Given the description of an element on the screen output the (x, y) to click on. 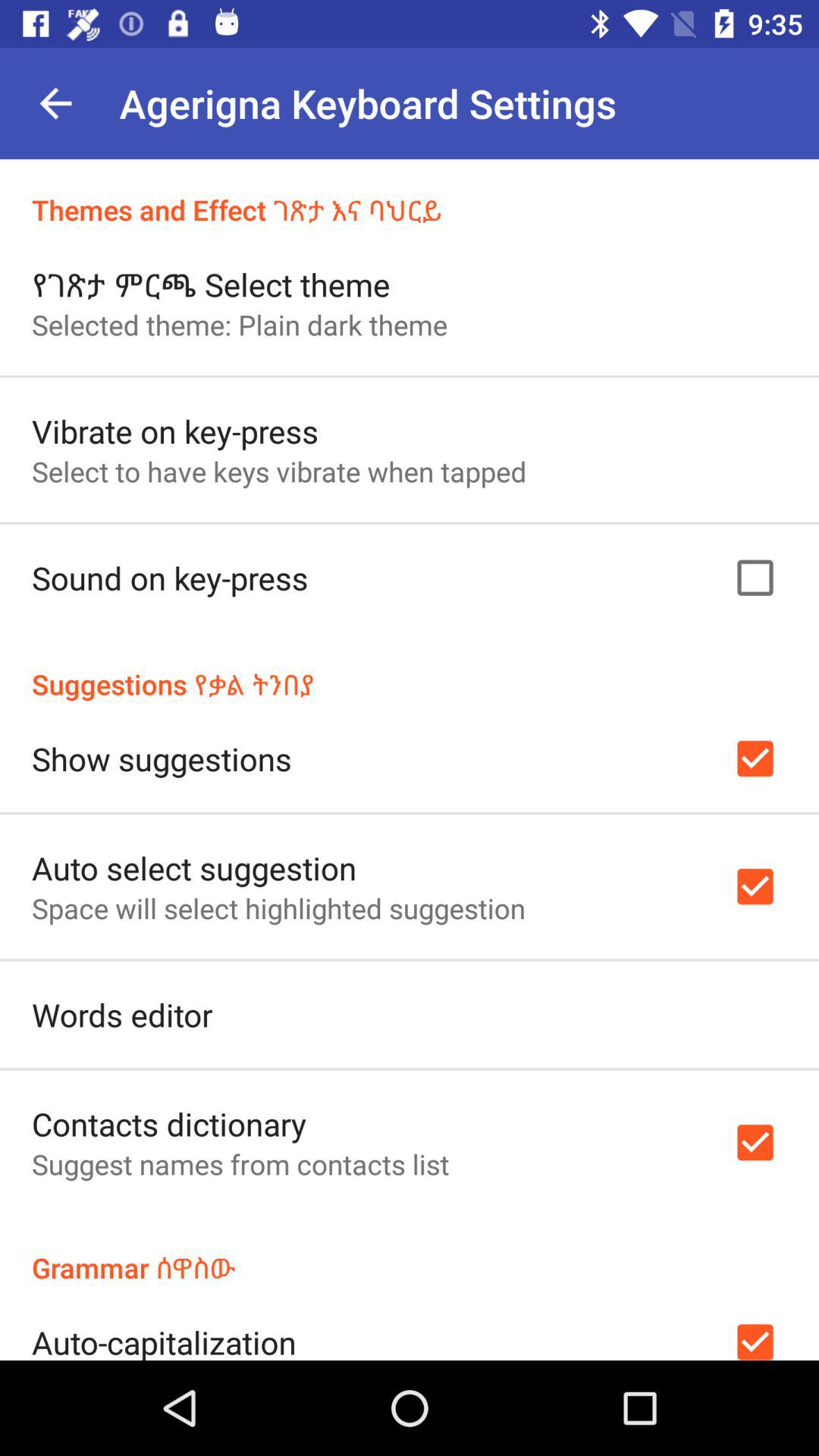
launch app next to agerigna keyboard settings (55, 103)
